Given the description of an element on the screen output the (x, y) to click on. 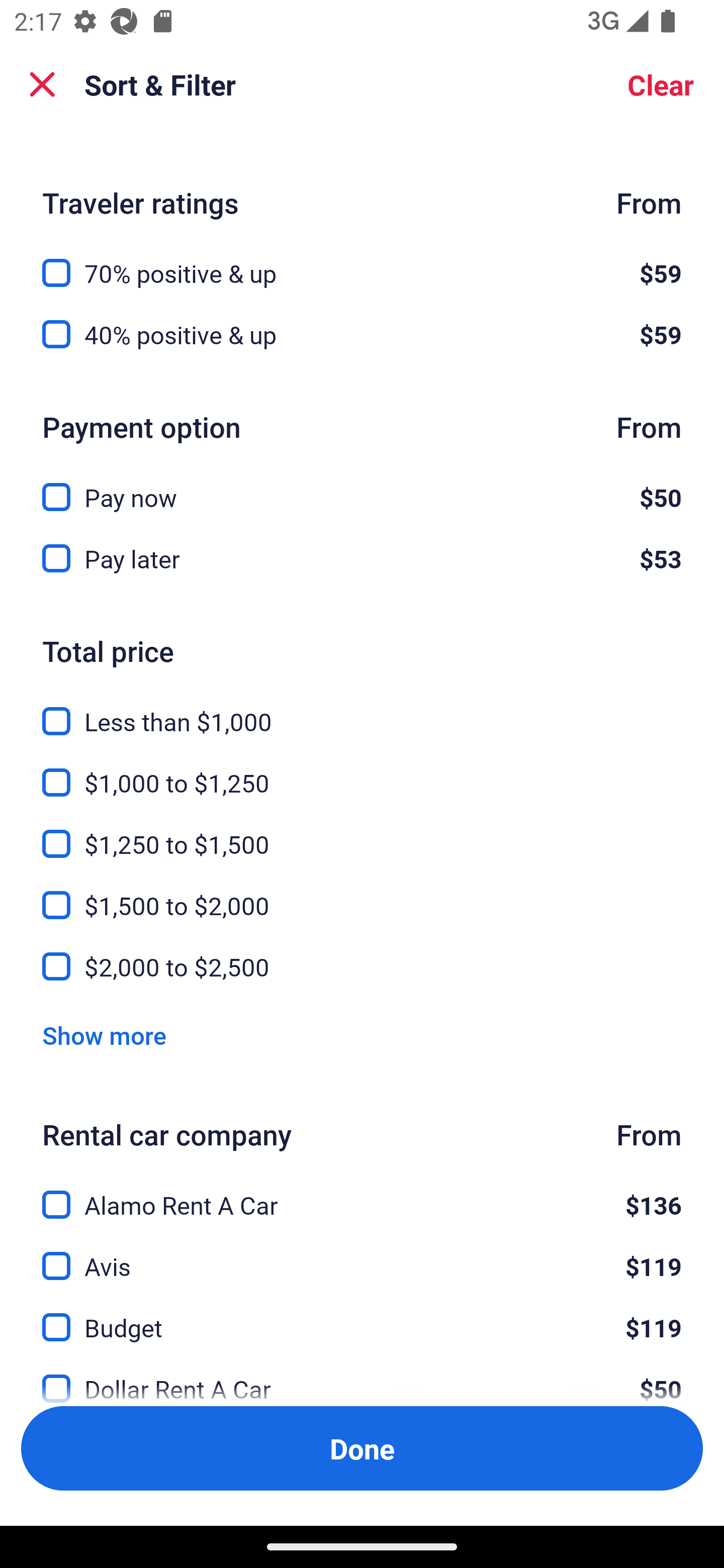
Close Sort and Filter (42, 84)
Clear (660, 84)
70% positive & up, $59 70% positive & up $59 (361, 261)
40% positive & up, $59 40% positive & up $59 (361, 334)
Pay now, $50 Pay now $50 (361, 484)
Pay later, $53 Pay later $53 (361, 557)
Less than $1,000, Less than $1,000 (361, 709)
$1,000 to $1,250, $1,000 to $1,250 (361, 771)
$1,250 to $1,500, $1,250 to $1,500 (361, 832)
$1,500 to $2,000, $1,500 to $2,000 (361, 894)
$2,000 to $2,500, $2,000 to $2,500 (361, 967)
Show more Show more Link (103, 1034)
Alamo Rent A Car, $136 Alamo Rent A Car $136 (361, 1193)
Avis, $119 Avis $119 (361, 1254)
Budget, $119 Budget $119 (361, 1315)
Dollar Rent A Car, $50 Dollar Rent A Car $50 (361, 1376)
Apply and close Sort and Filter Done (361, 1448)
